Given the description of an element on the screen output the (x, y) to click on. 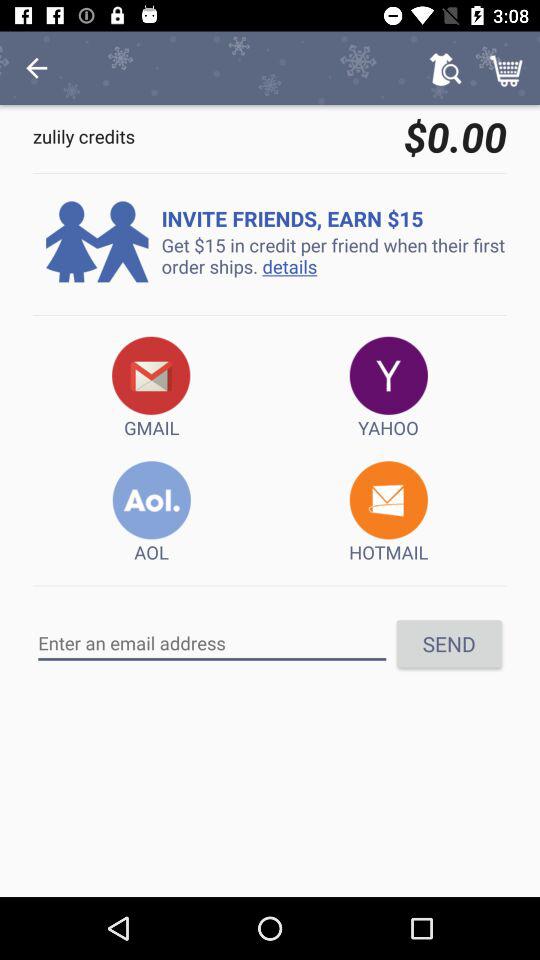
turn on the item to the right of the gmail (388, 388)
